Given the description of an element on the screen output the (x, y) to click on. 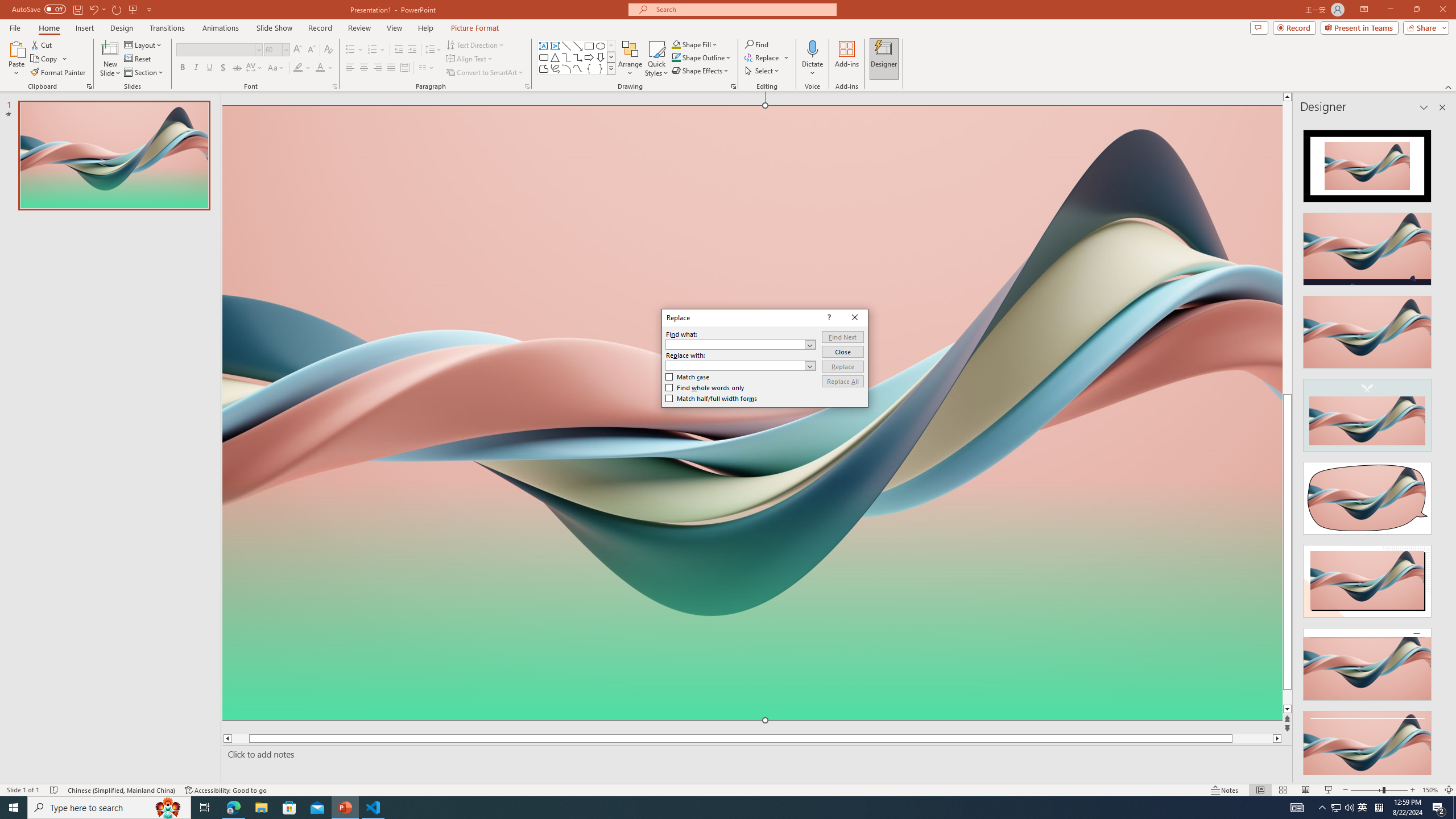
Replace All (842, 381)
Match case (687, 376)
Decorative Locked (752, 579)
